Given the description of an element on the screen output the (x, y) to click on. 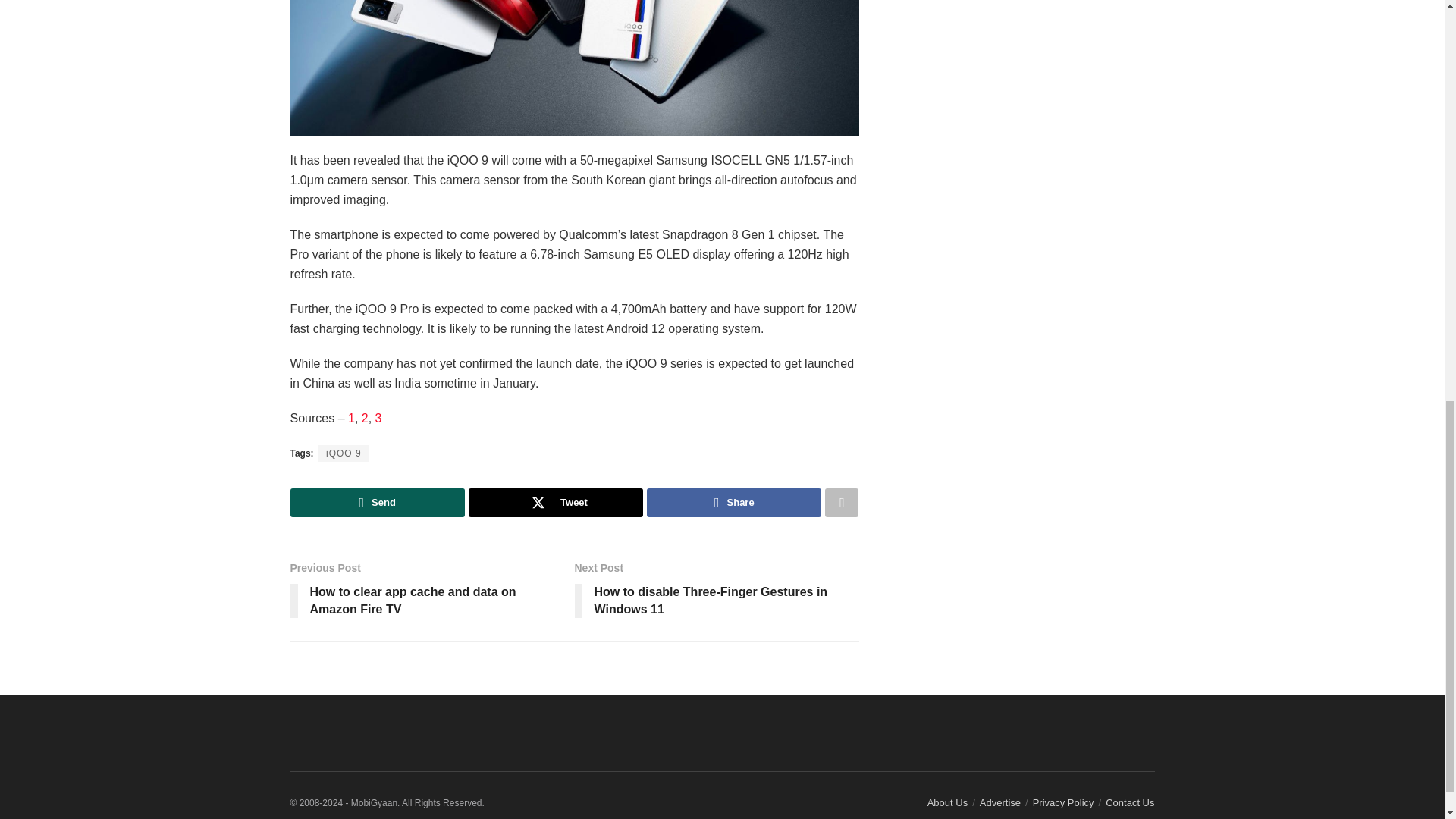
iQOO 9 (343, 453)
Tweet (555, 502)
Send (376, 502)
